Given the description of an element on the screen output the (x, y) to click on. 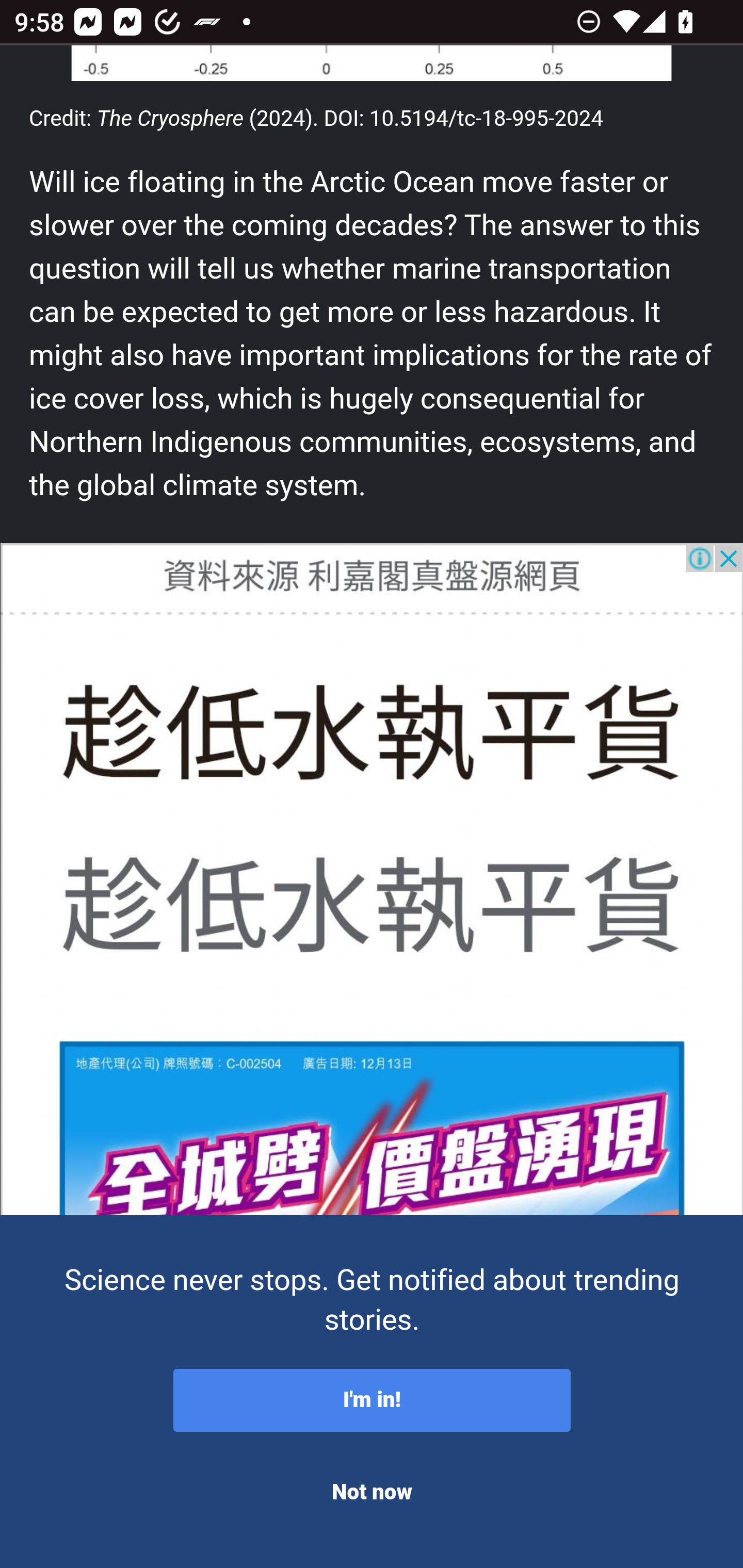
I'm in! (371, 1400)
Not now (371, 1492)
